Given the description of an element on the screen output the (x, y) to click on. 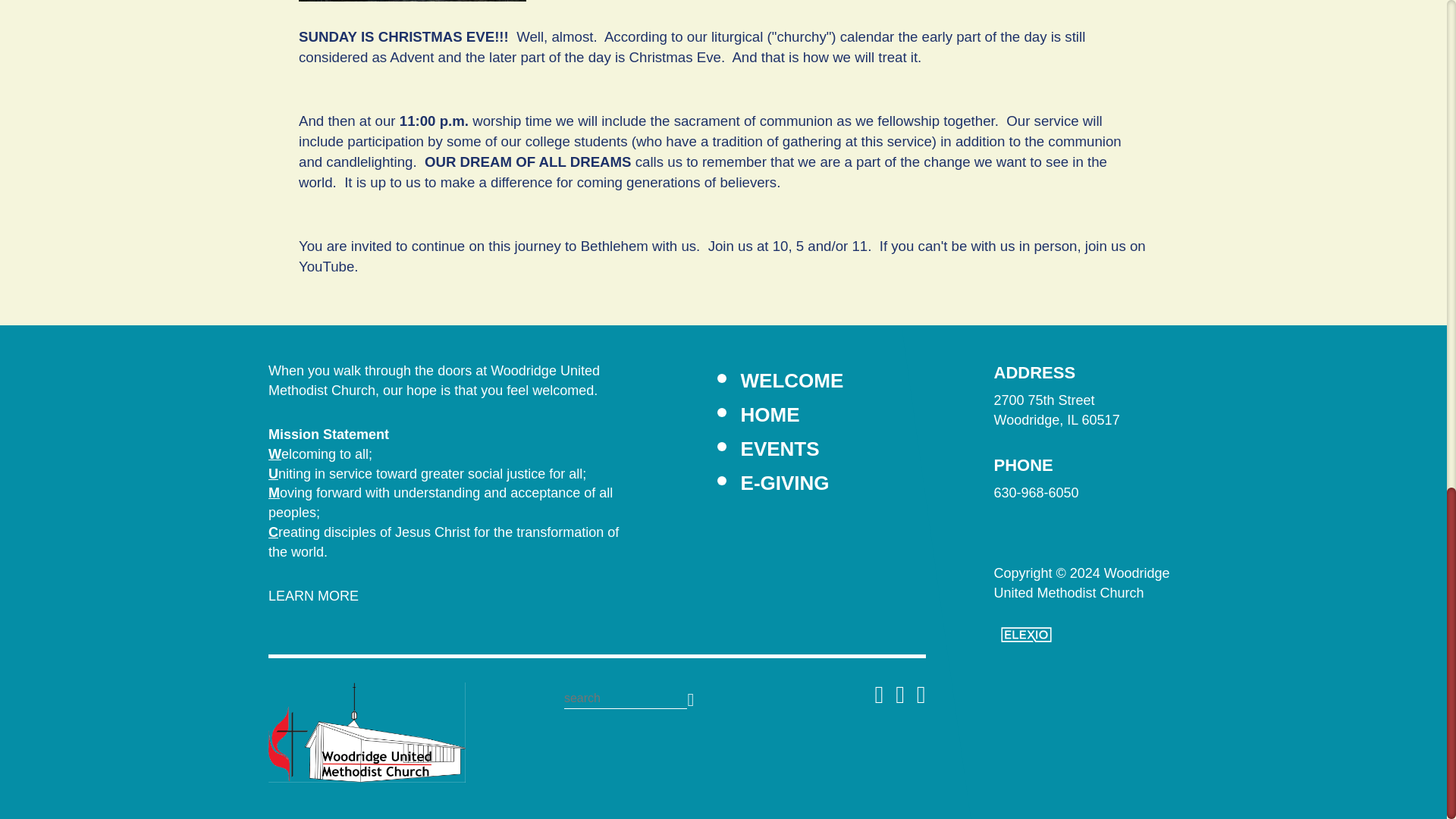
e-Giving (785, 482)
Home (366, 732)
Welcome (792, 380)
Home (770, 414)
Events (780, 448)
